Given the description of an element on the screen output the (x, y) to click on. 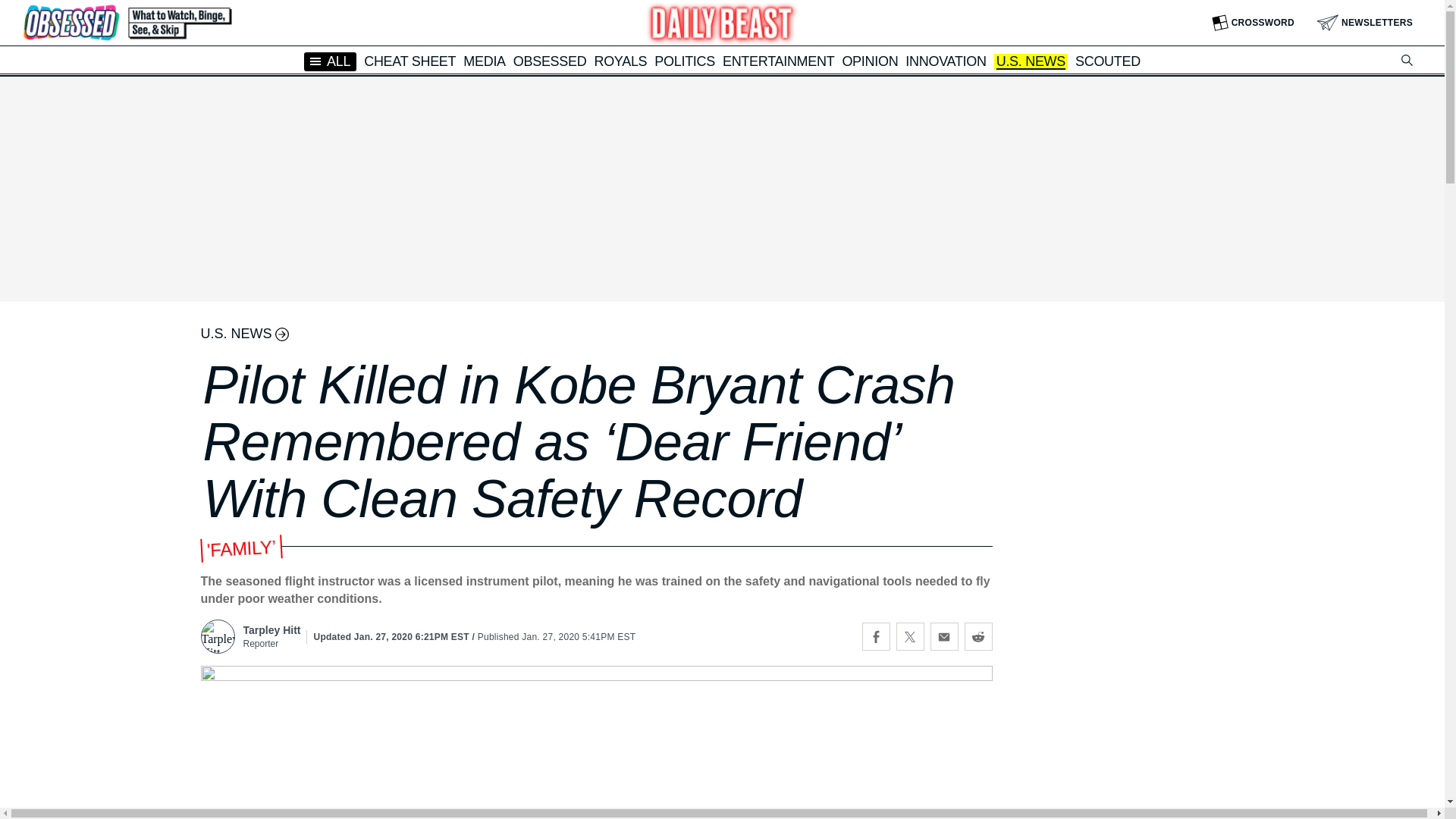
NEWSLETTERS (1364, 22)
ALL (330, 60)
CROSSWORD (1252, 22)
U.S. NEWS (1030, 61)
MEDIA (484, 60)
INNOVATION (945, 60)
CHEAT SHEET (409, 60)
ENTERTAINMENT (778, 60)
ROYALS (620, 60)
POLITICS (683, 60)
OBSESSED (549, 60)
OPINION (869, 60)
SCOUTED (1107, 60)
